Given the description of an element on the screen output the (x, y) to click on. 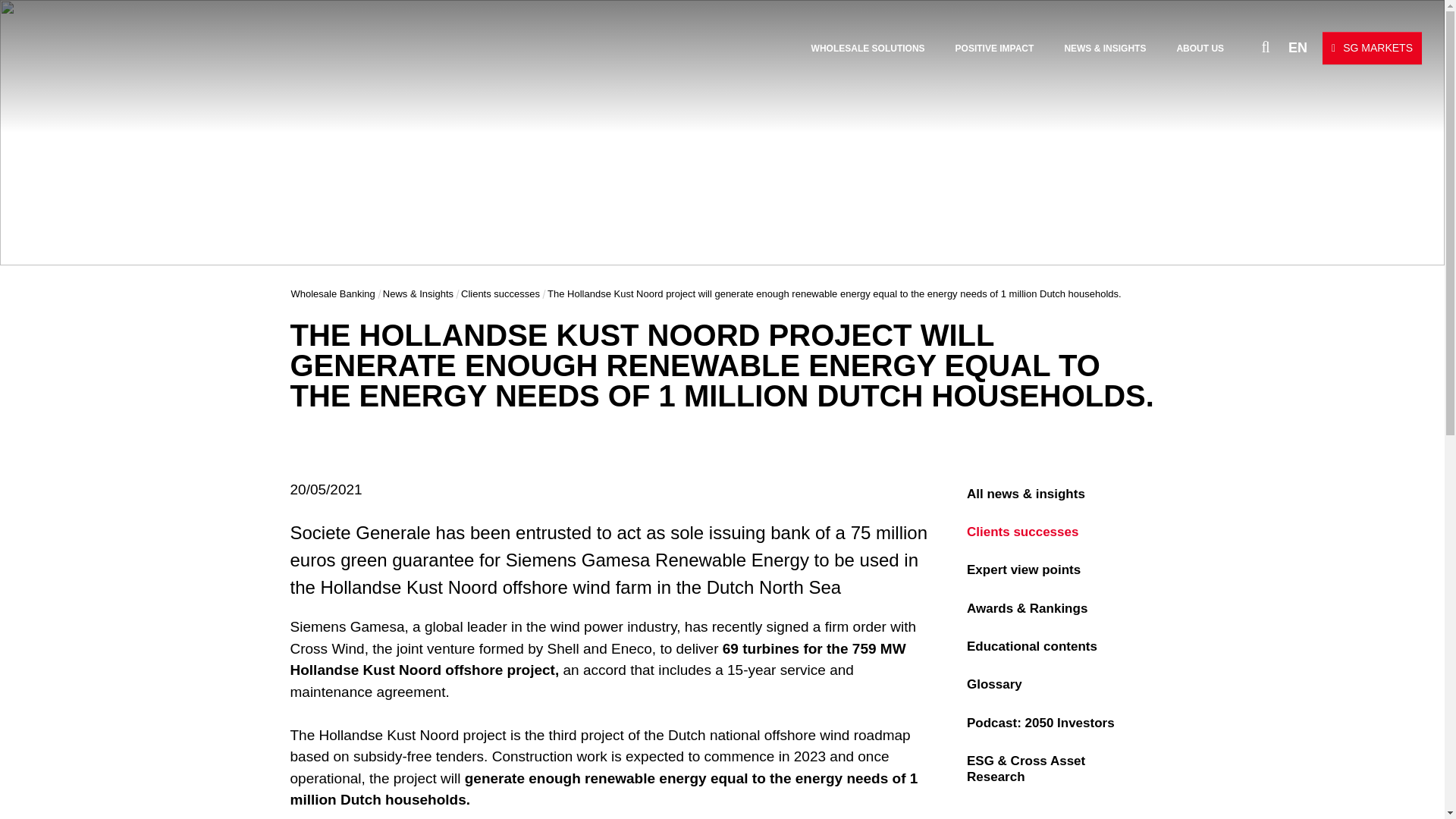
WHOLESALE SOLUTIONS (867, 48)
ABOUT US (1200, 48)
POSITIVE IMPACT (994, 48)
Client access to : SG MARKETS  (1372, 47)
Search with Quantum (1238, 45)
EN (1297, 47)
Search (1264, 46)
English (1297, 47)
